Given the description of an element on the screen output the (x, y) to click on. 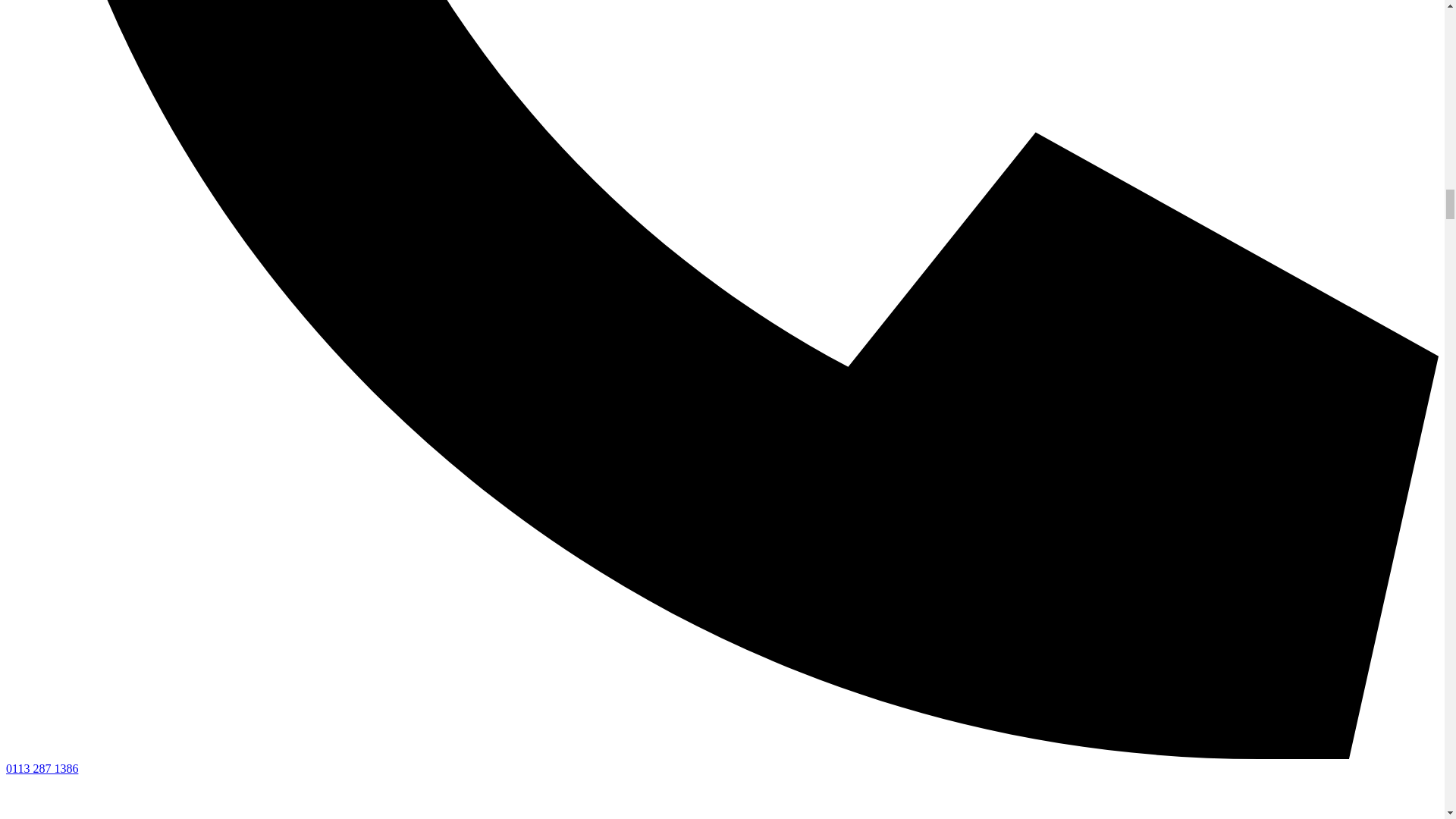
0113 287 1386 (41, 768)
